Given the description of an element on the screen output the (x, y) to click on. 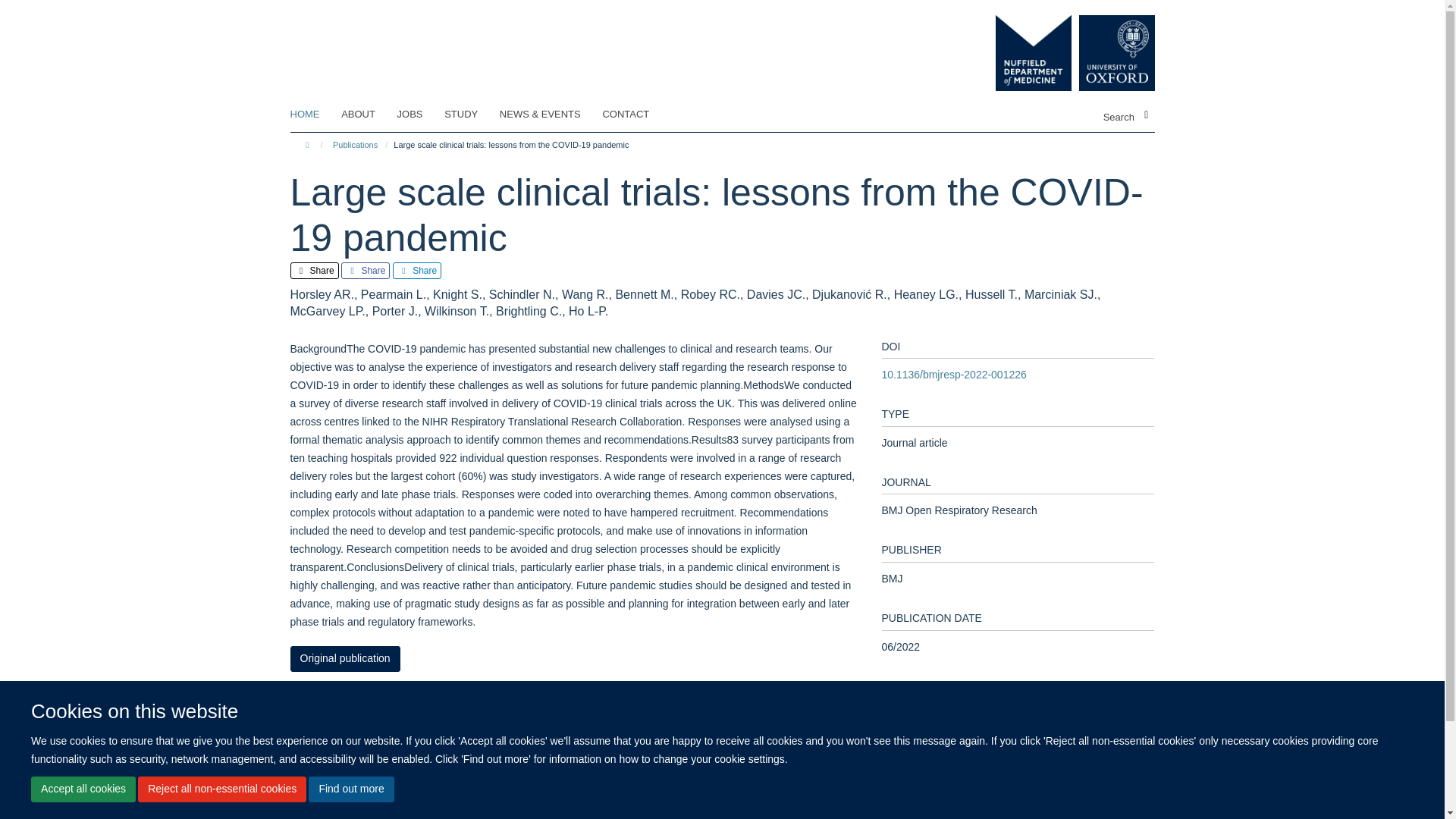
Reject all non-essential cookies (221, 789)
HOME (313, 114)
ABOUT (367, 114)
Find out more (350, 789)
Accept all cookies (82, 789)
